Given the description of an element on the screen output the (x, y) to click on. 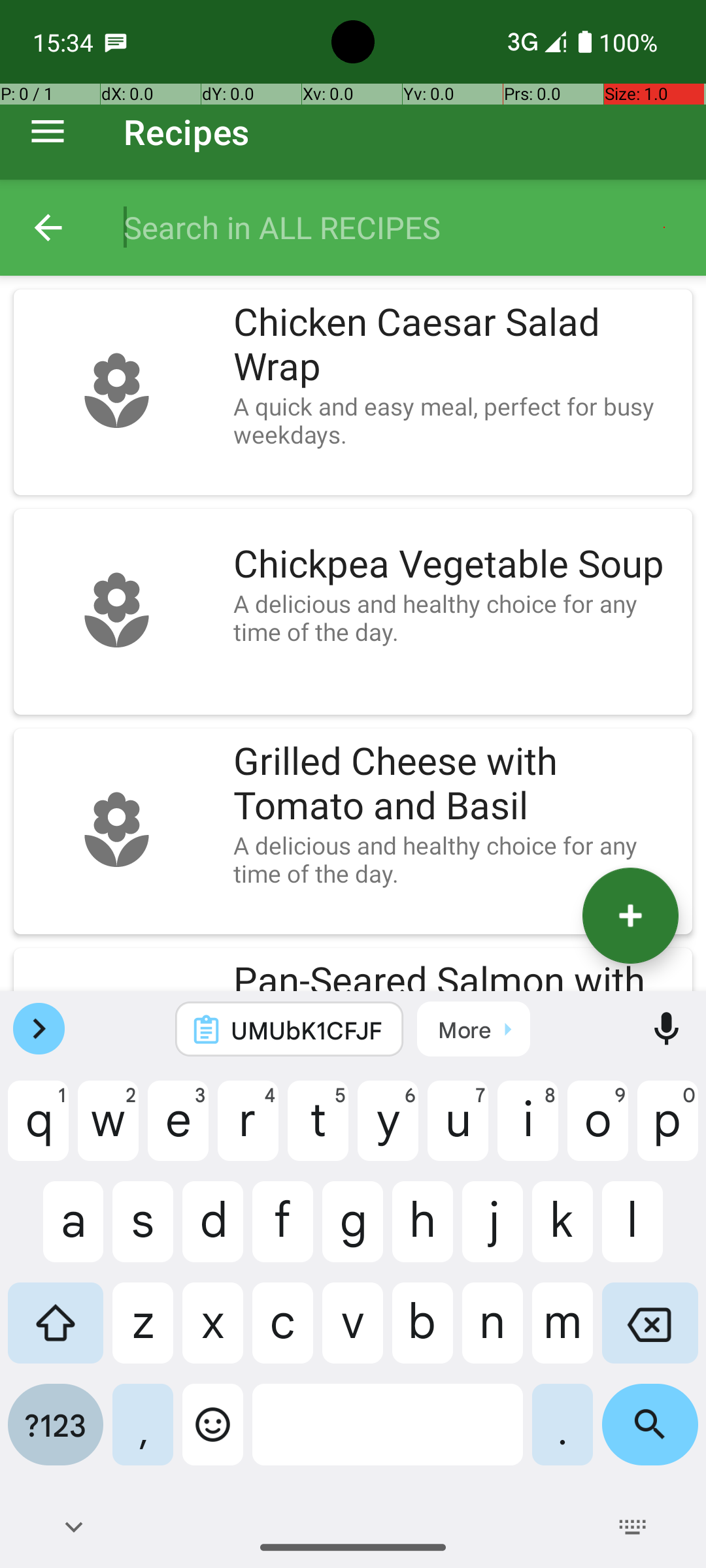
Collapse Element type: android.widget.ImageButton (48, 227)
Search in ALL RECIPES Element type: android.widget.AutoCompleteTextView (400, 227)
Chicken Caesar Salad Wrap Element type: android.widget.TextView (455, 344)
Chickpea Vegetable Soup Element type: android.widget.TextView (455, 564)
Grilled Cheese with Tomato and Basil Element type: android.widget.TextView (455, 783)
Pan-Seared Salmon with Quinoa Element type: android.widget.TextView (455, 975)
UMUbK1CFJF Element type: android.widget.TextView (306, 1029)
